Given the description of an element on the screen output the (x, y) to click on. 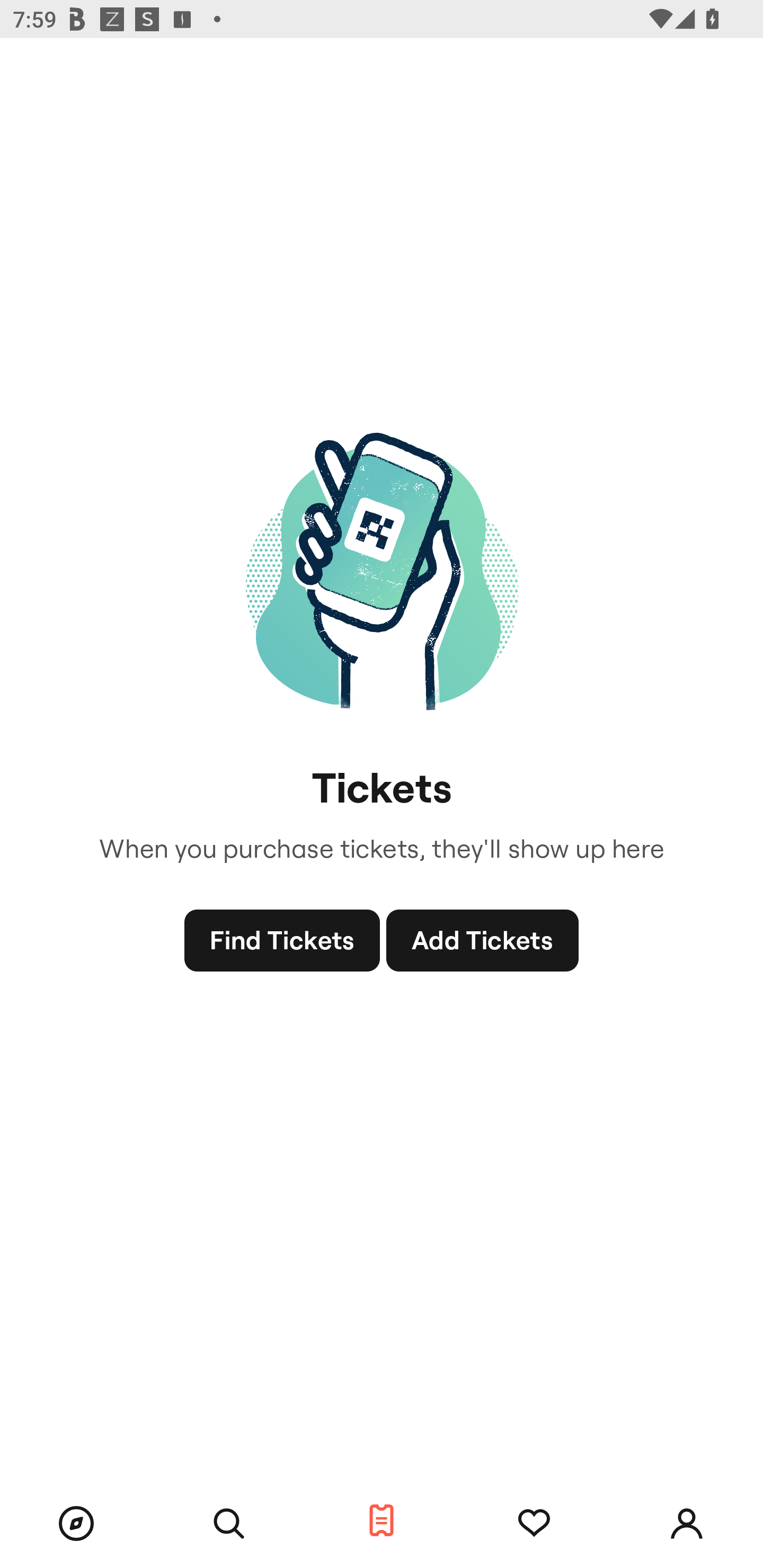
Find Tickets (281, 940)
Add Tickets (482, 940)
Browse (76, 1523)
Search (228, 1523)
Tickets (381, 1521)
Tracking (533, 1523)
Account (686, 1523)
